Given the description of an element on the screen output the (x, y) to click on. 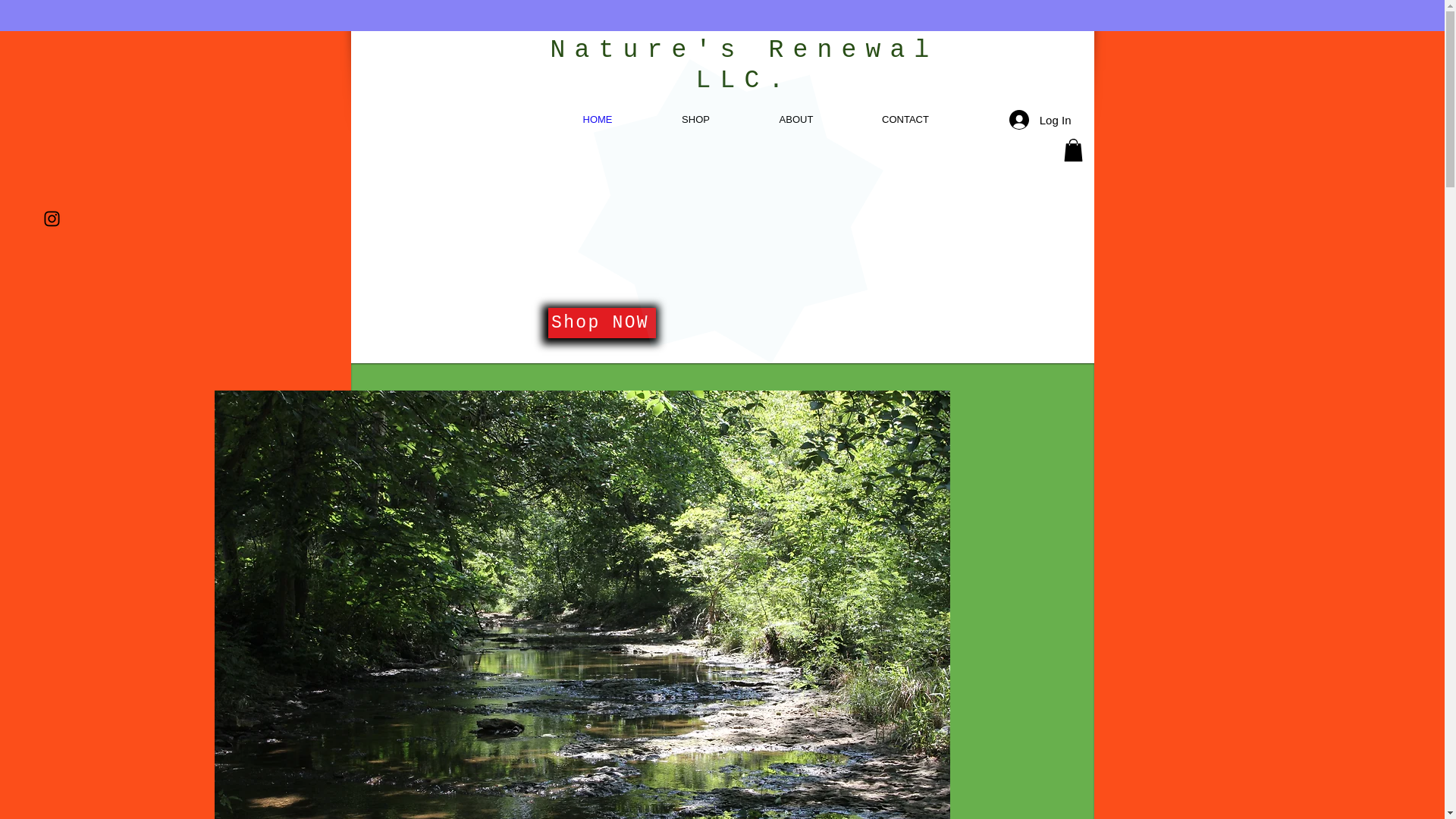
SHOP (695, 119)
Log In (1039, 119)
HOME (596, 119)
CONTACT (904, 119)
ABOUT (796, 119)
Nature's Renewal LLC. (743, 65)
Shop NOW (601, 322)
